Given the description of an element on the screen output the (x, y) to click on. 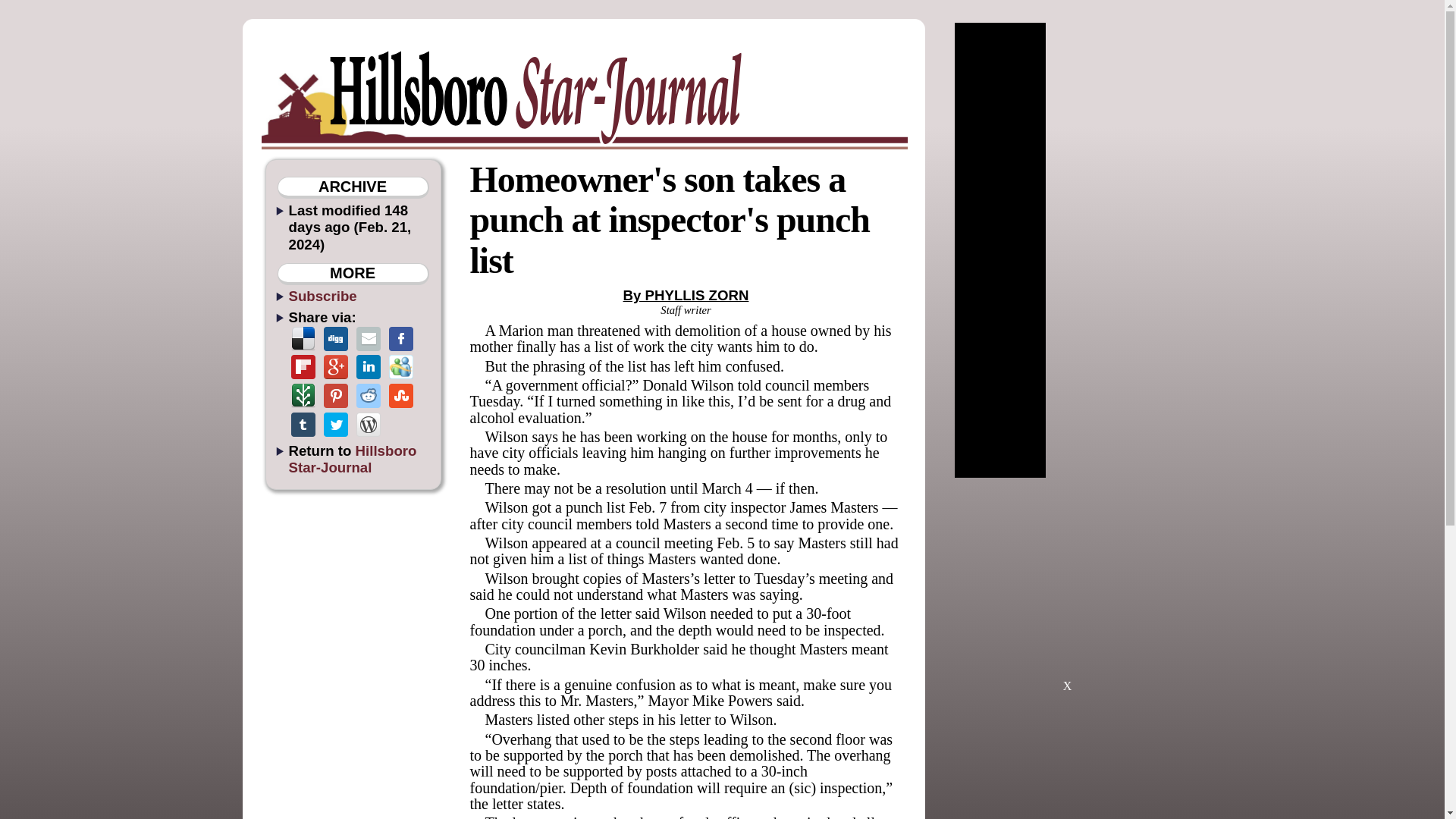
Advertisement (1067, 591)
Subscribe (322, 295)
Hillsboro Star-Journal (352, 459)
